Given the description of an element on the screen output the (x, y) to click on. 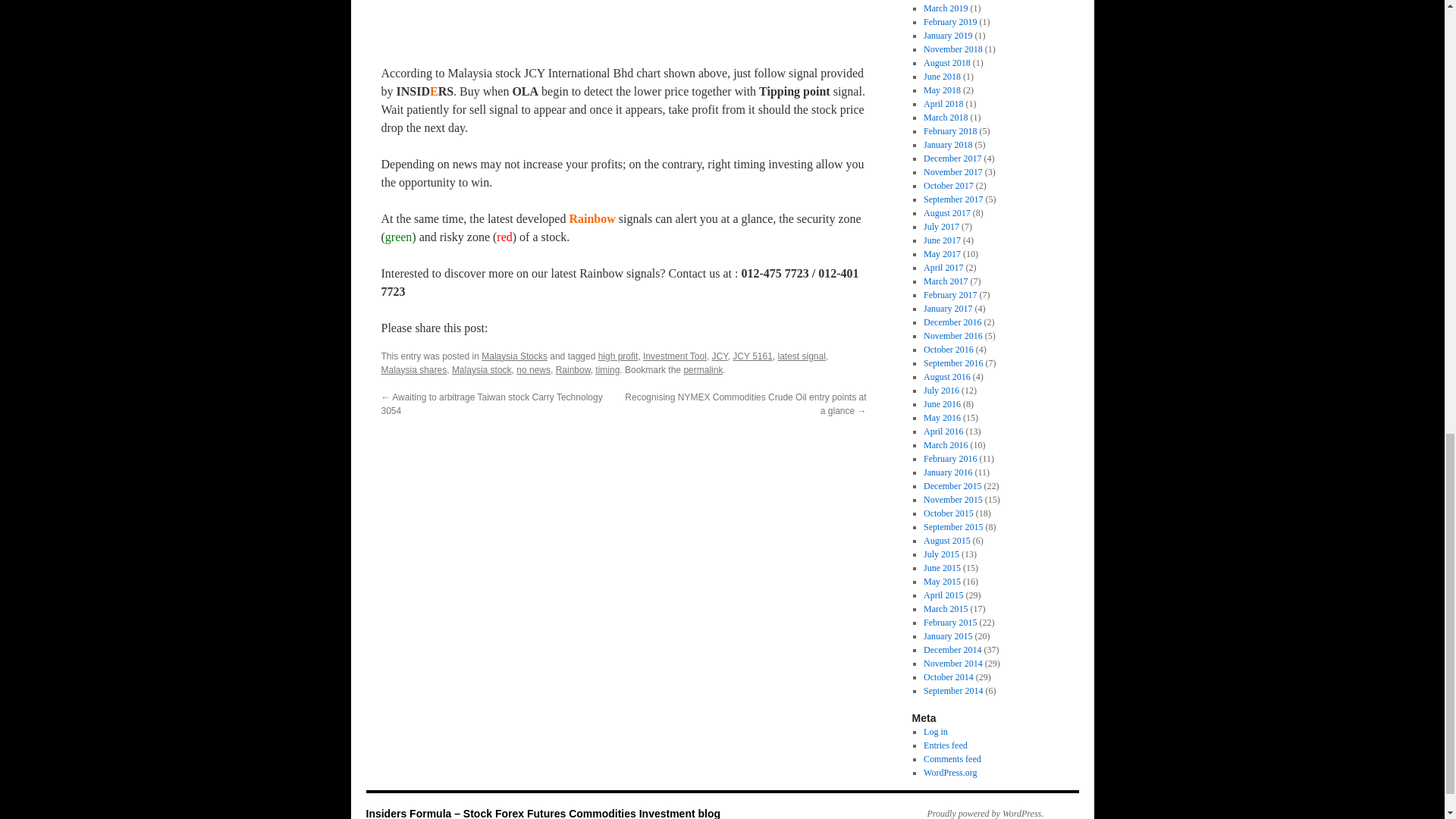
JCY (719, 356)
timing (607, 369)
Malaysia stock (481, 369)
JCY 5161 (751, 356)
Malaysia shares (413, 369)
high profit (618, 356)
permalink (702, 369)
Malaysia Stocks (514, 356)
Investment Tool (674, 356)
Rainbow (573, 369)
